Given the description of an element on the screen output the (x, y) to click on. 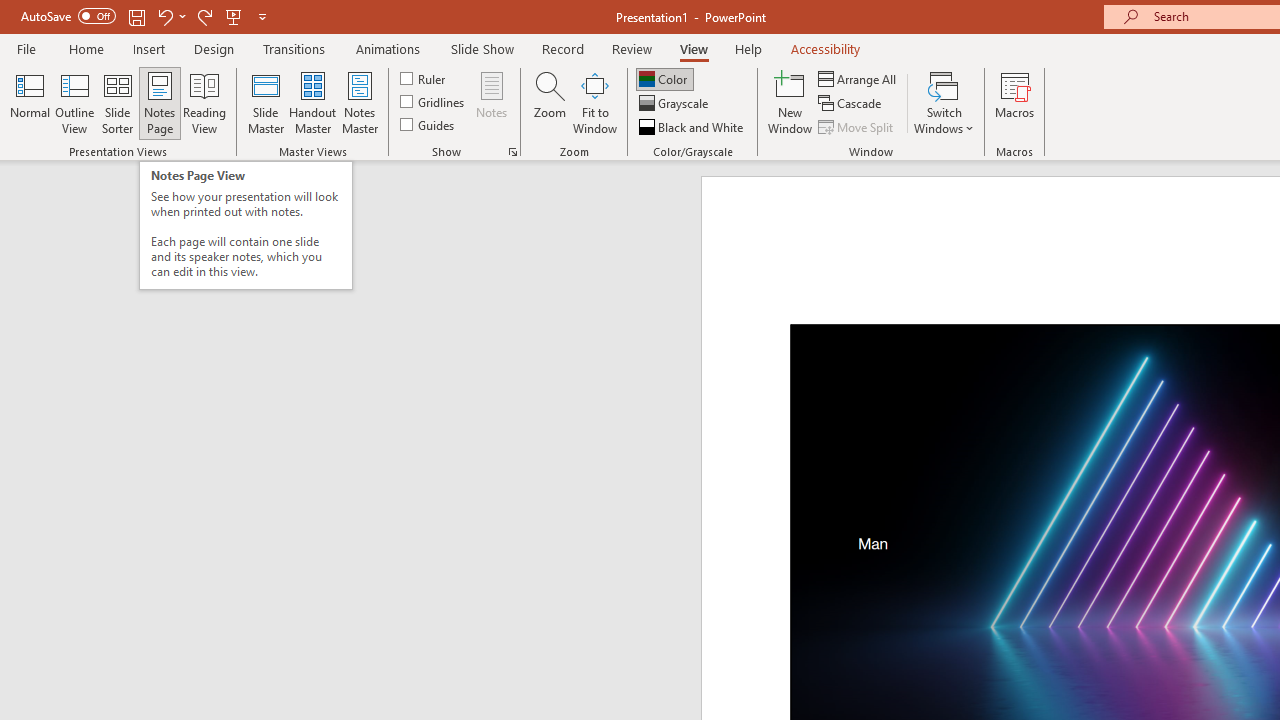
Slide Master (265, 102)
Ruler (423, 78)
Grid Settings... (512, 151)
Macros (1014, 102)
Color (664, 78)
